Given the description of an element on the screen output the (x, y) to click on. 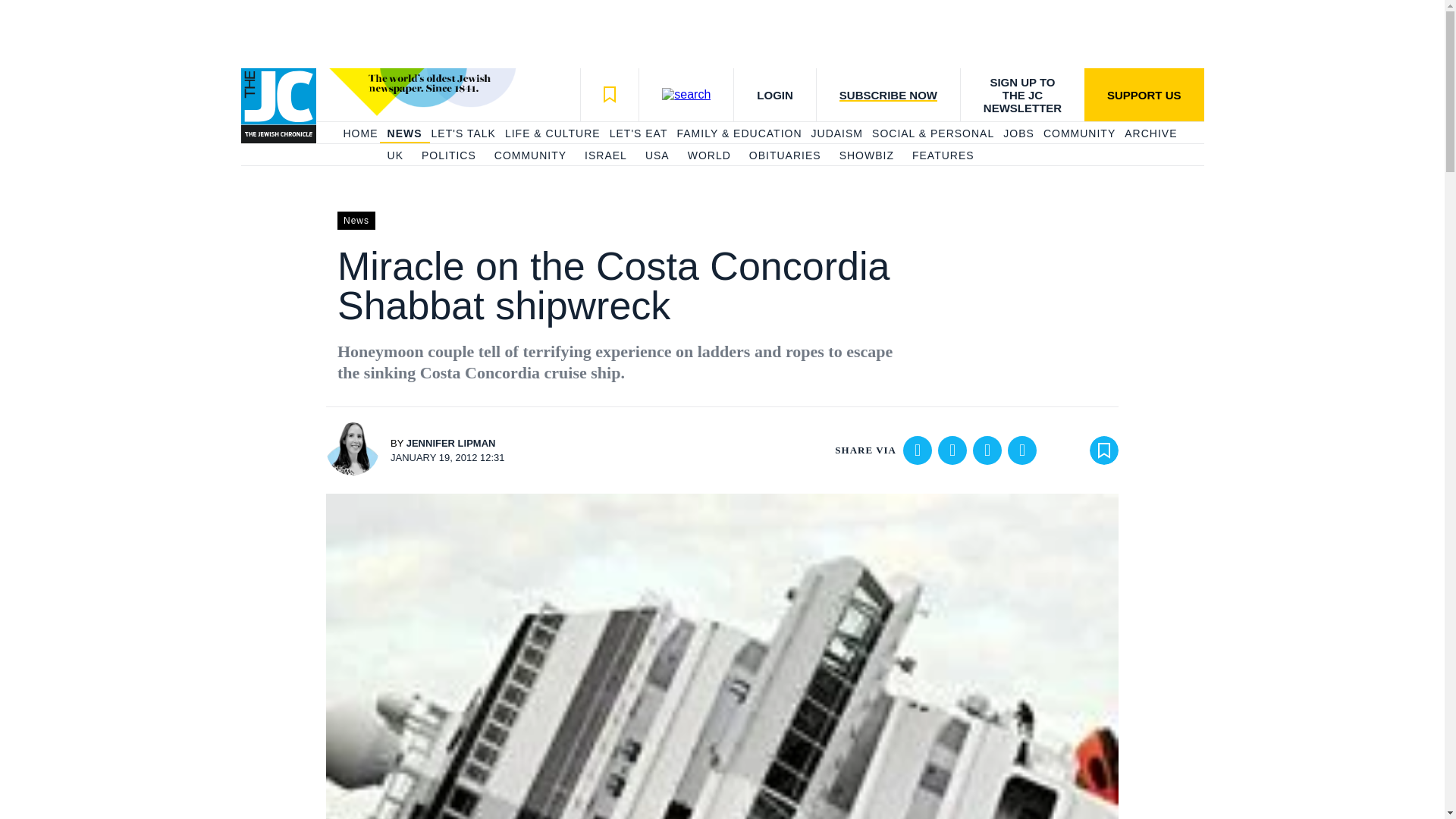
LOGIN (774, 94)
SHOWBIZ (866, 155)
USA (657, 155)
HOME (359, 133)
COMMUNITY (530, 155)
UK (395, 155)
FEATURES (943, 155)
ARCHIVE (1150, 133)
LET'S EAT (639, 133)
ISRAEL (606, 155)
